Given the description of an element on the screen output the (x, y) to click on. 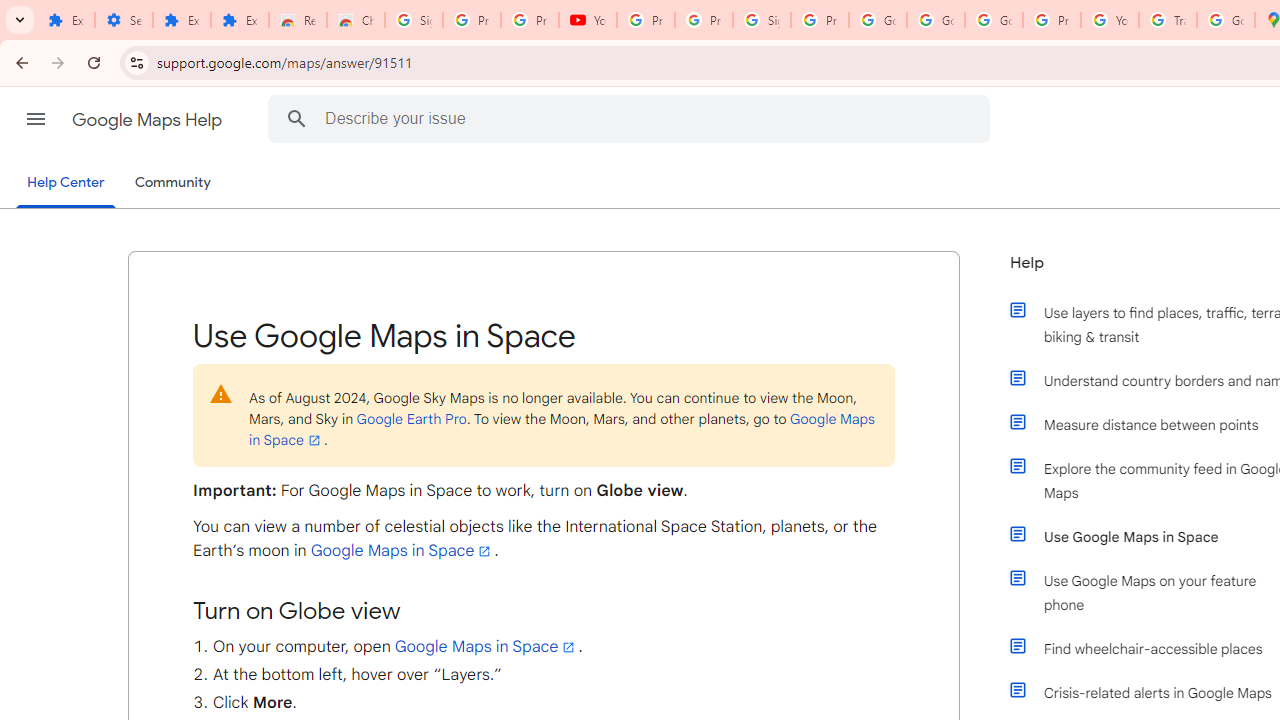
YouTube (587, 20)
Google Maps Help (148, 119)
Extensions (65, 20)
Community (171, 183)
